Given the description of an element on the screen output the (x, y) to click on. 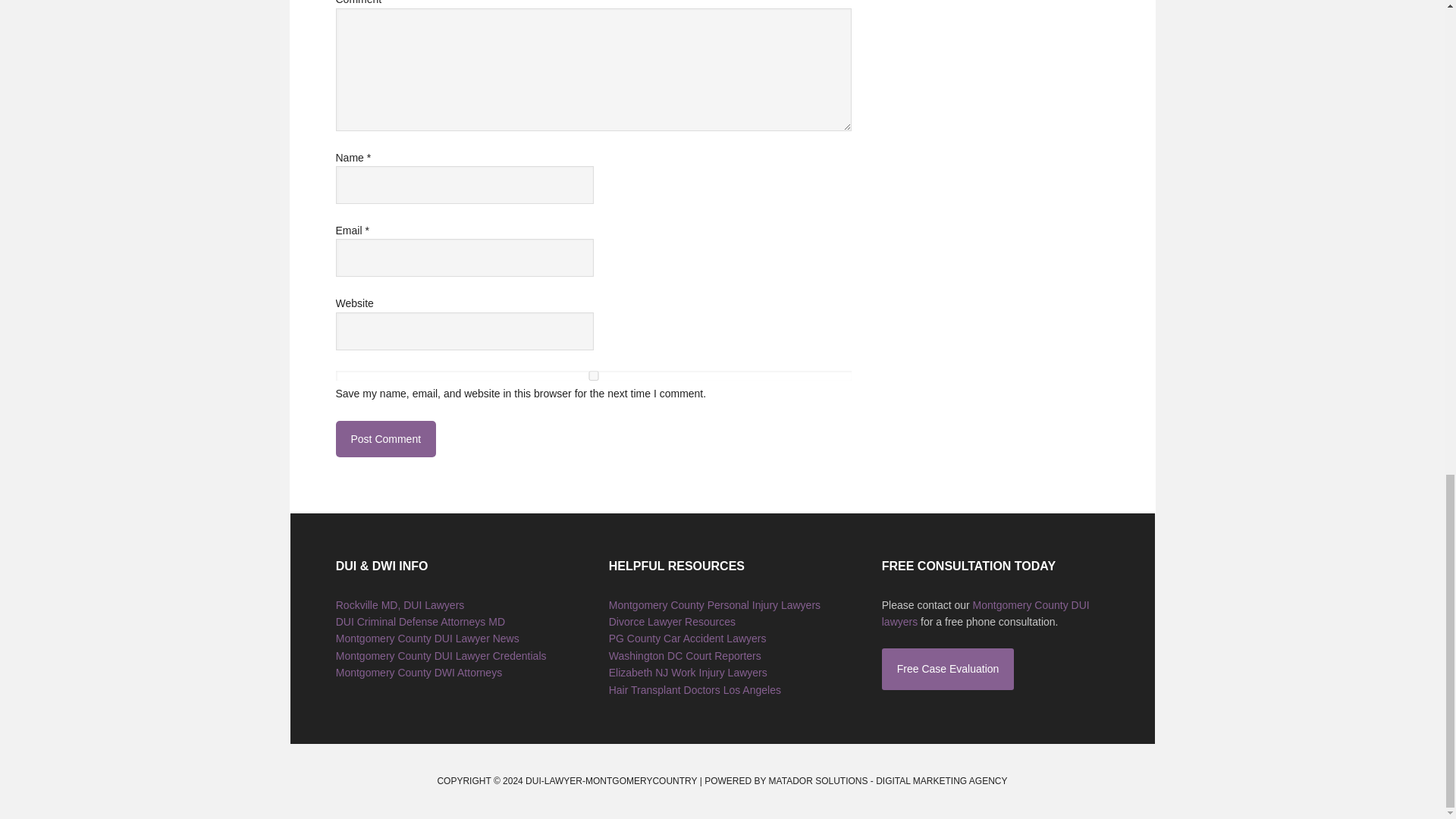
Free Case Evaluation (948, 668)
Elizabeth NJ Work Injury Lawyers (687, 672)
MATADOR SOLUTIONS - DIGITAL MARKETING AGENCY (887, 780)
Montgomery County Personal Injury Lawyers (714, 604)
Hair Transplant Doctors Los Angeles (694, 689)
Montgomery County DUI Lawyer Credentials (441, 655)
DUI-LAWYER-MONTGOMERYCOUNTRY (611, 780)
yes (592, 375)
Post Comment (384, 438)
Montgomery County DWI Attorneys (419, 672)
PG County Car Accident Lawyers (687, 638)
Rockville MD, DUI Lawyers (400, 604)
Washington DC Court Reporters (684, 655)
Montgomery County DUI lawyers (985, 613)
Post Comment (384, 438)
